Given the description of an element on the screen output the (x, y) to click on. 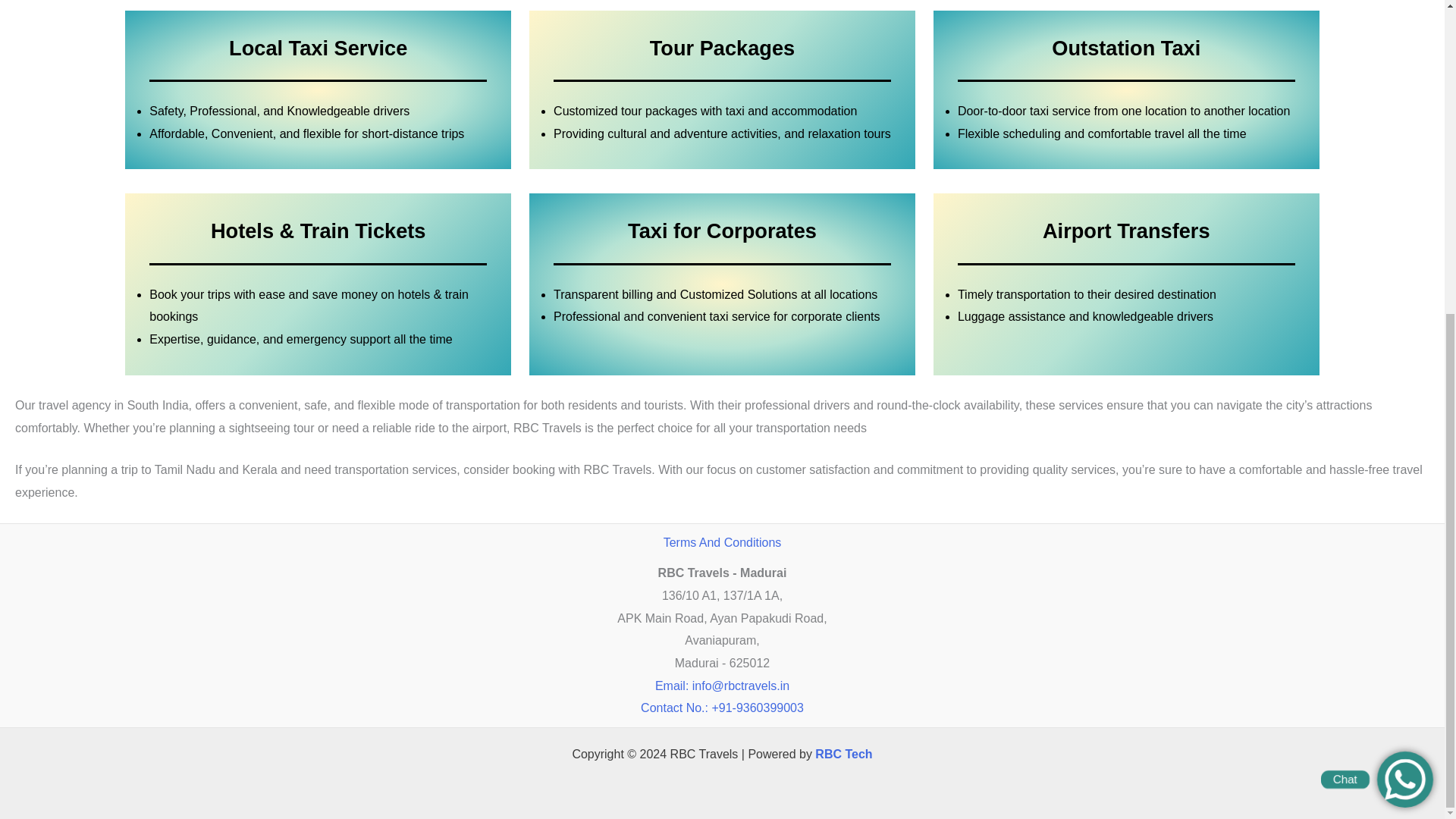
RBC Tech (843, 753)
Terms And Conditions (722, 542)
